Given the description of an element on the screen output the (x, y) to click on. 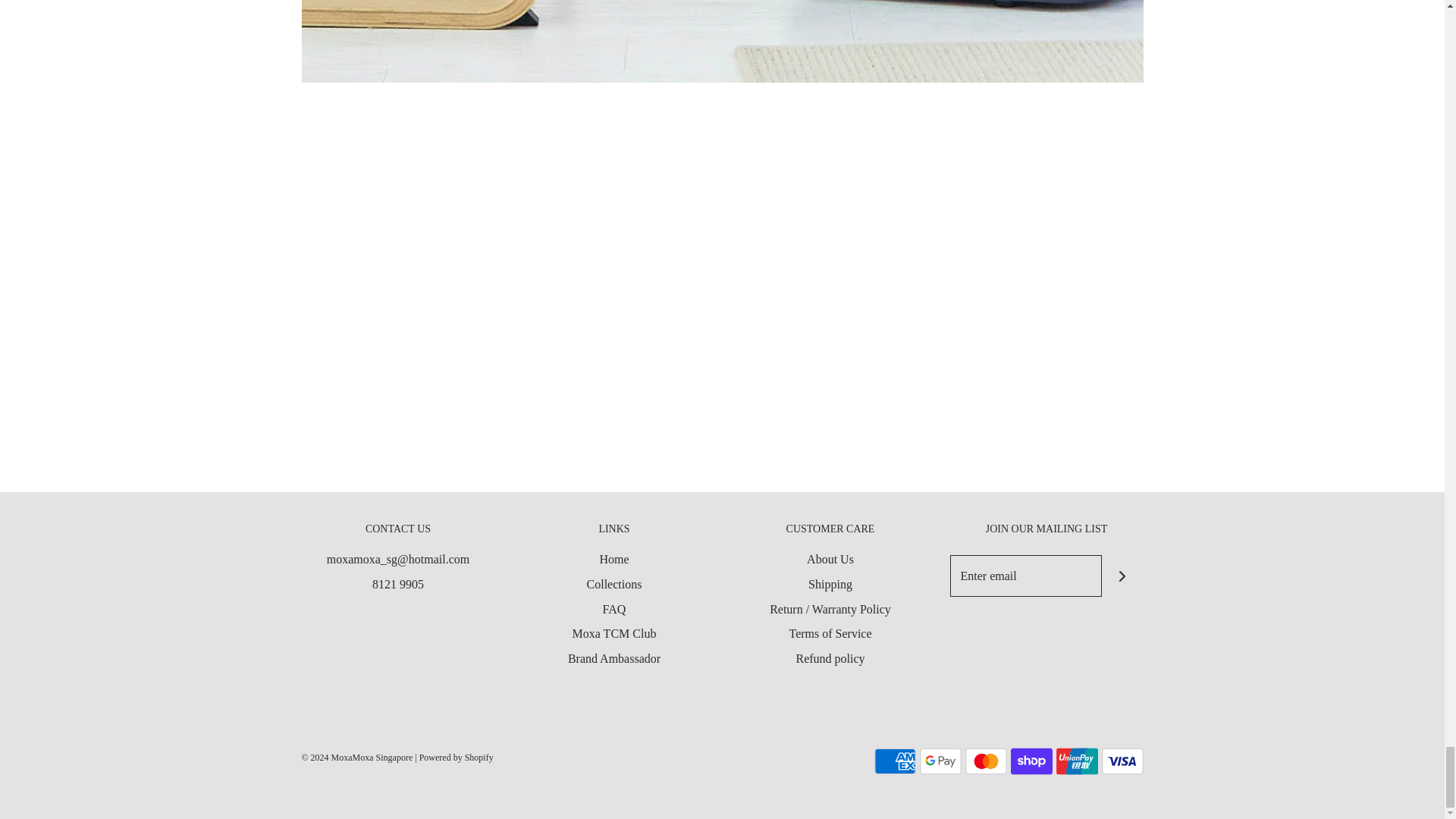
Visa (1121, 761)
Union Pay (1076, 761)
Shop Pay (1030, 761)
American Express (894, 761)
Google Pay (939, 761)
Mastercard (984, 761)
